Given the description of an element on the screen output the (x, y) to click on. 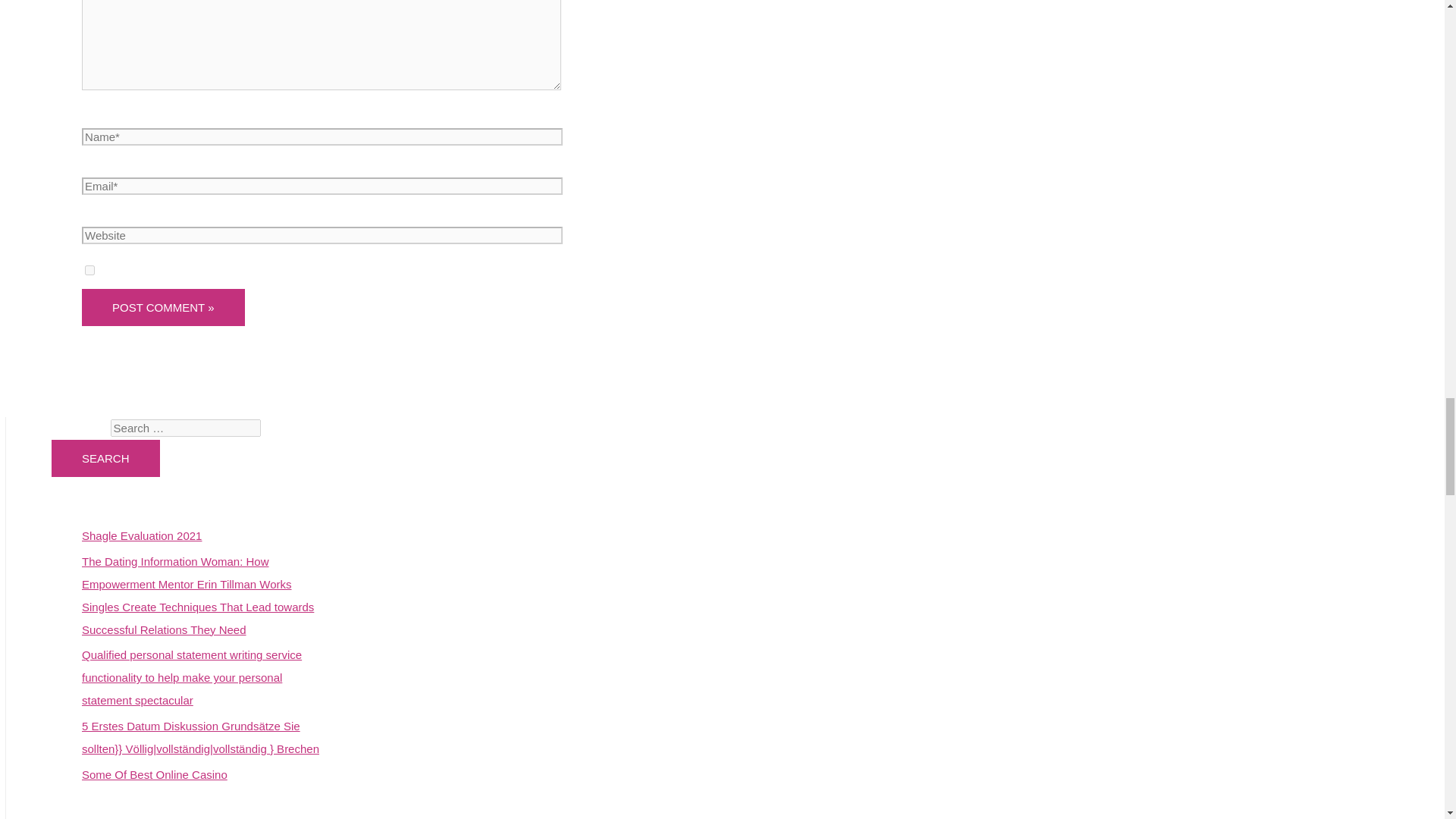
Shagle Evaluation 2021 (141, 535)
yes (89, 270)
Search (105, 457)
Search (105, 457)
Some Of Best Online Casino (154, 774)
Search (105, 457)
